Given the description of an element on the screen output the (x, y) to click on. 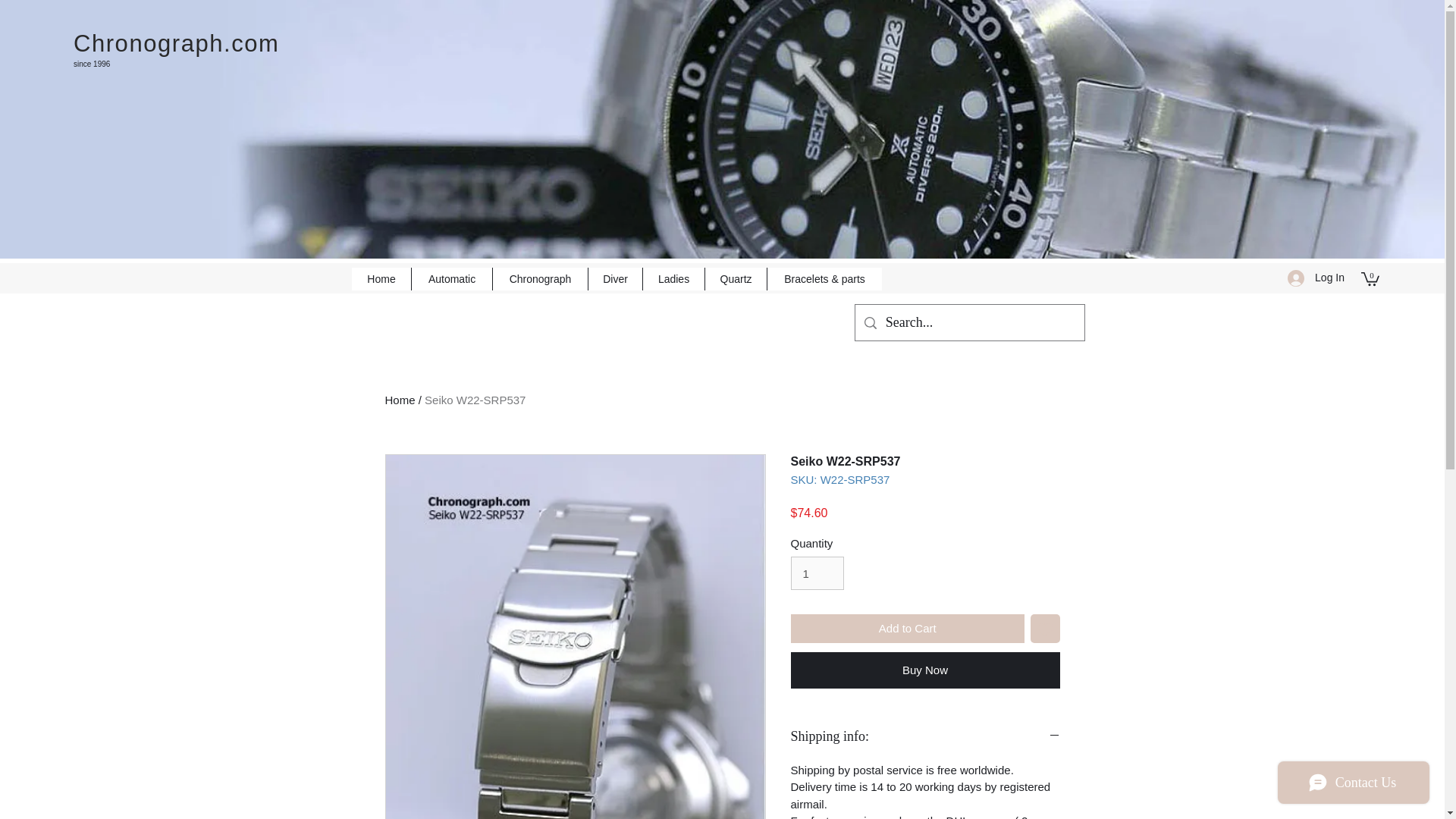
Home (399, 399)
Log In (1315, 277)
Seiko W22-SRP537 (475, 399)
Diver (615, 278)
Ladies (673, 278)
Chronograph (540, 278)
Add to Cart (907, 628)
Home (381, 278)
Quartz (735, 278)
0 (1369, 278)
